Given the description of an element on the screen output the (x, y) to click on. 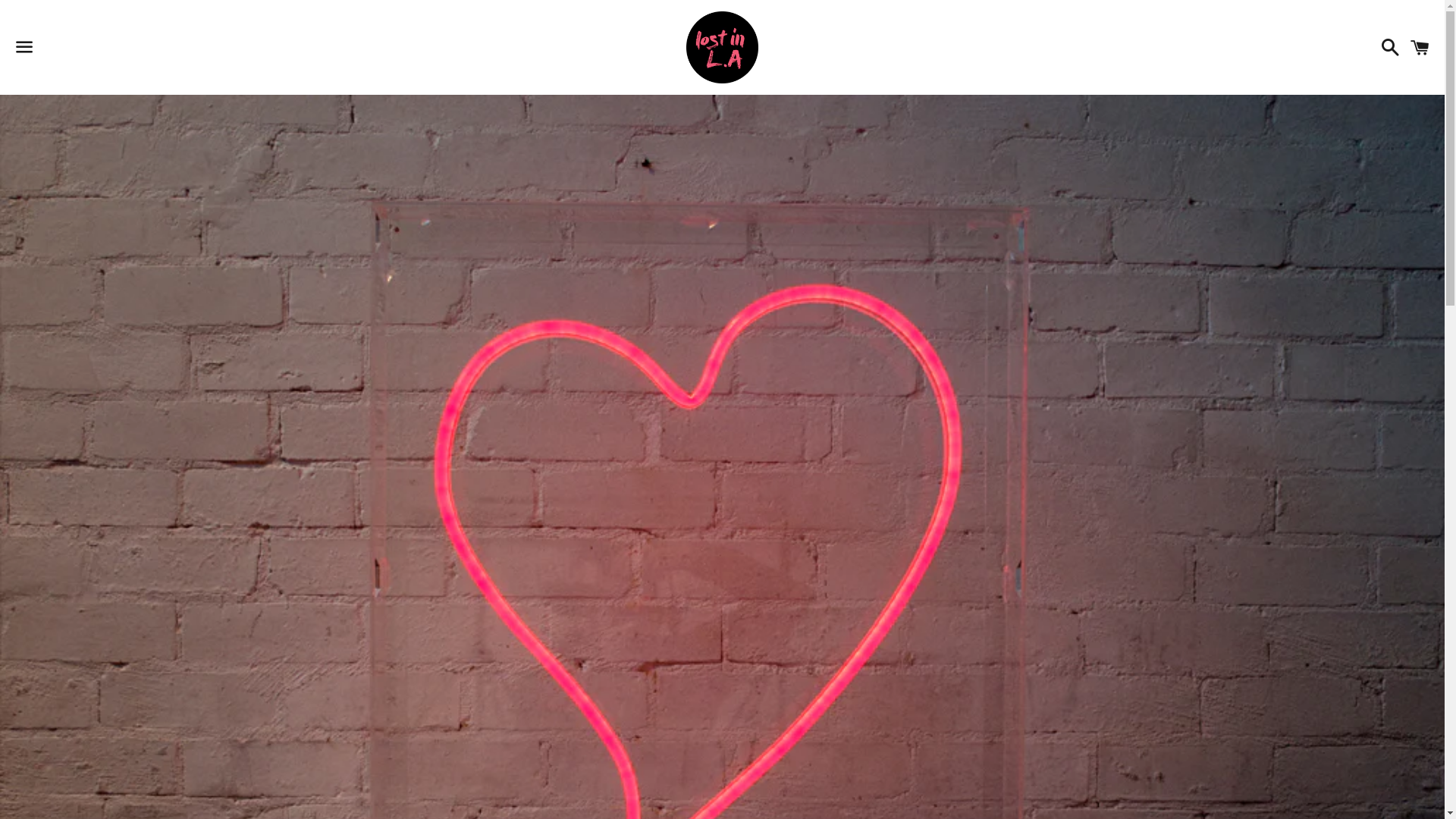
Cart Element type: text (1419, 46)
Menu Element type: text (24, 47)
Search Element type: text (1386, 46)
